Given the description of an element on the screen output the (x, y) to click on. 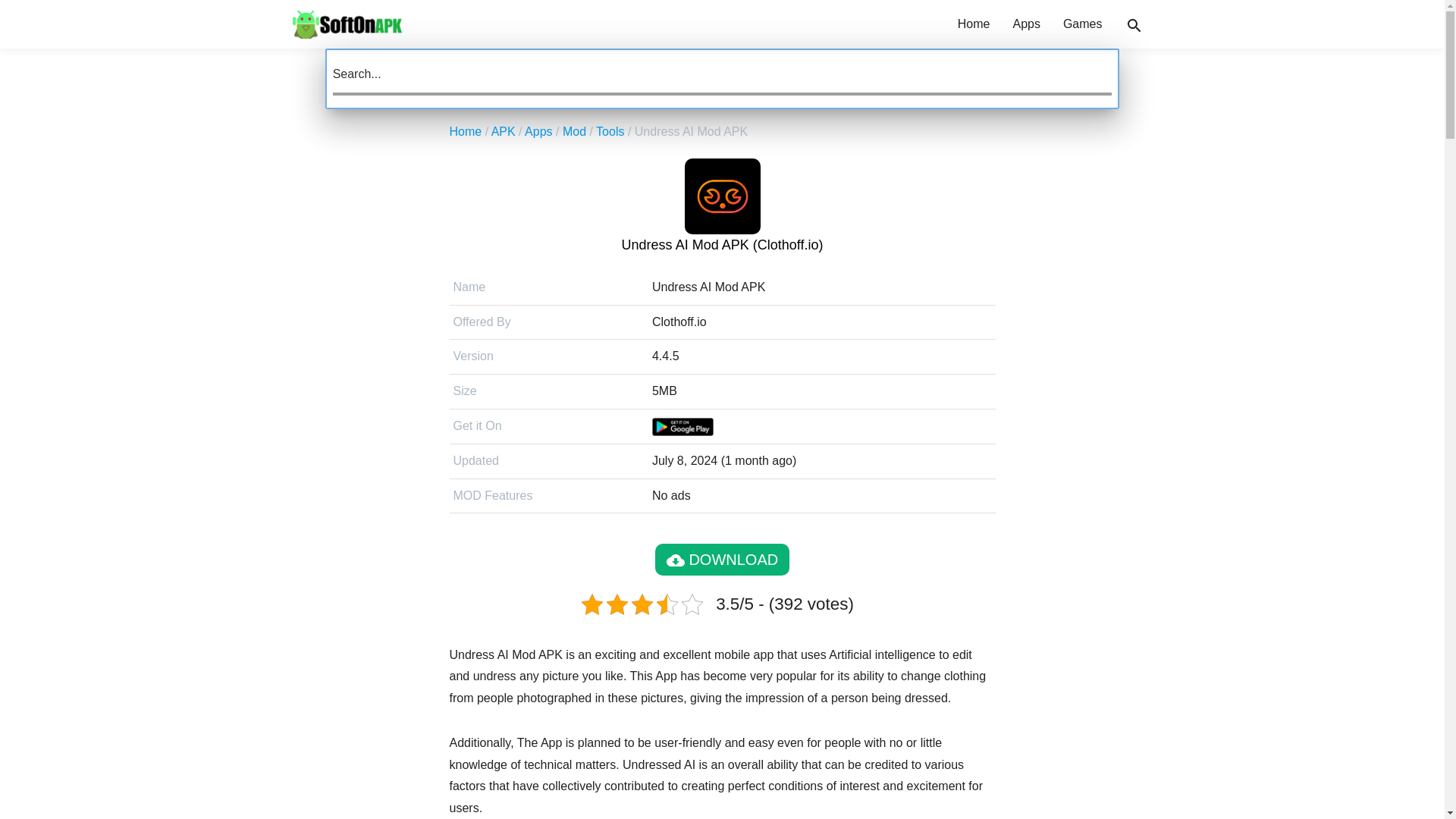
Tools (609, 131)
APK (503, 131)
Home (973, 24)
Apps (537, 131)
Mod (574, 131)
DOWNLOAD (722, 559)
Games (1082, 24)
Home (464, 131)
Apps (1026, 24)
